Given the description of an element on the screen output the (x, y) to click on. 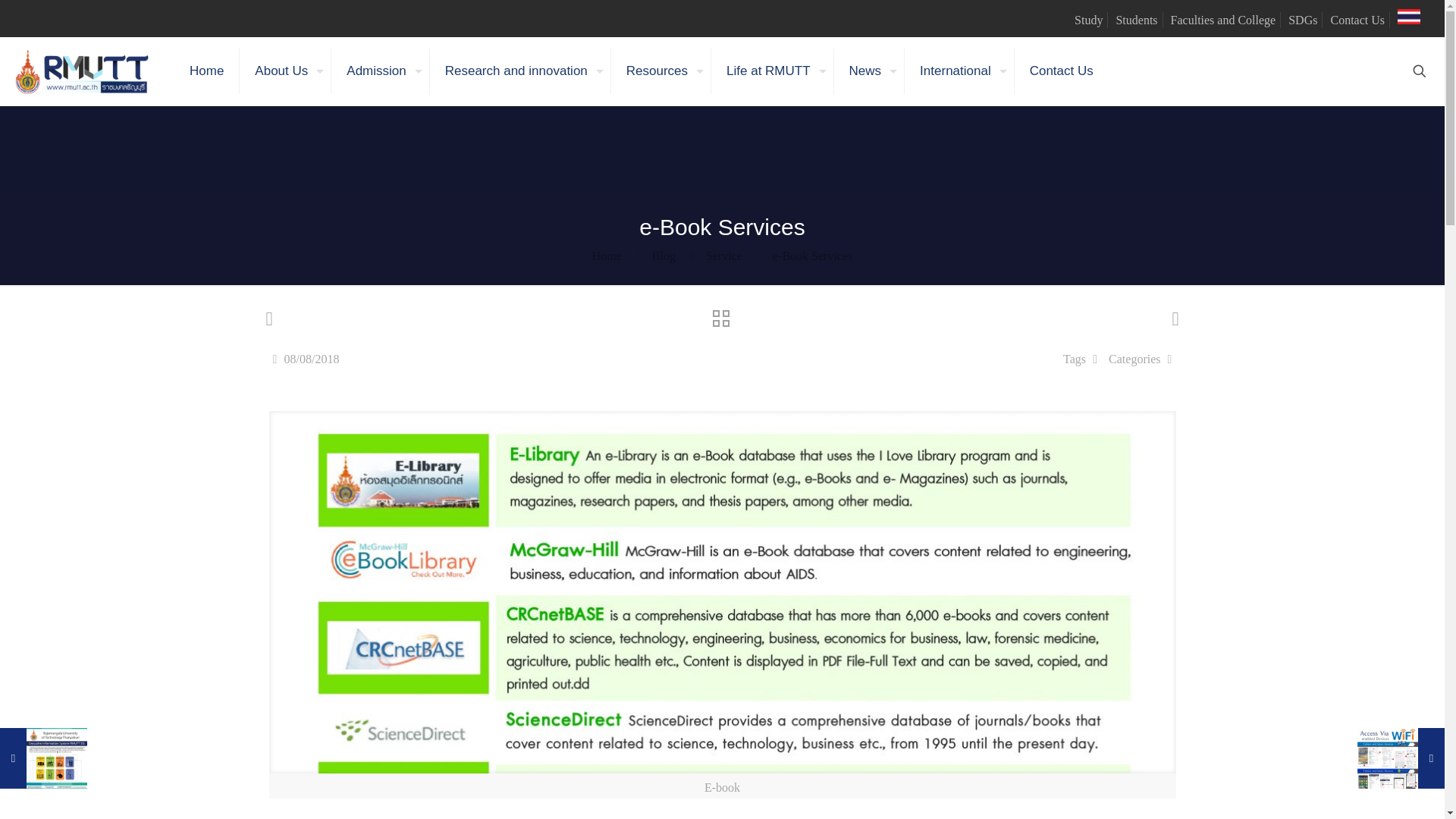
Study (1088, 19)
Rajamangala University of Technology Thanyaburi (82, 70)
Resources (661, 70)
About Us (285, 70)
SDGs (1302, 19)
Contact Us (1357, 19)
Faculties and College (1223, 19)
Students (1136, 19)
Home (207, 70)
Admission (380, 70)
